Given the description of an element on the screen output the (x, y) to click on. 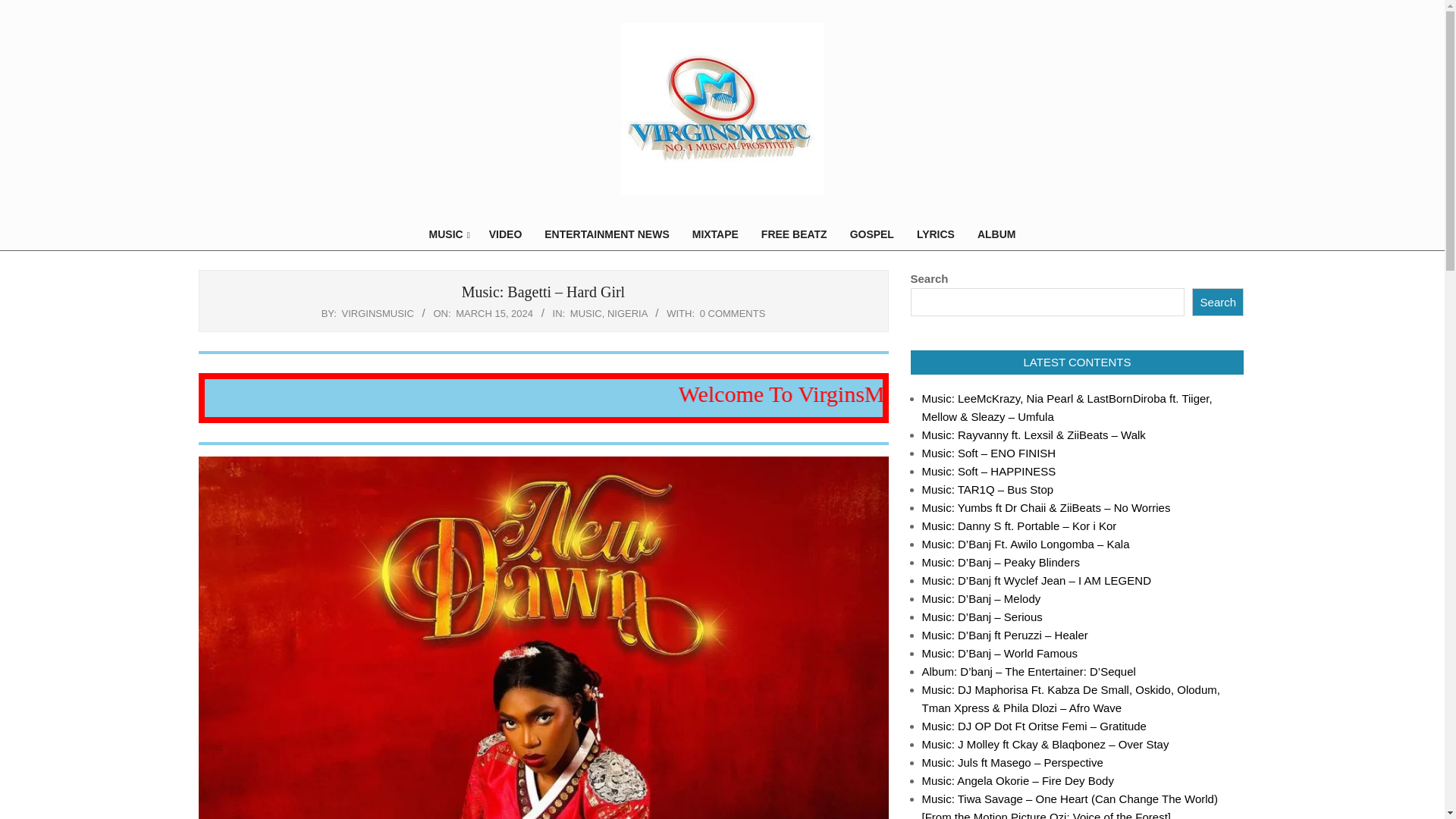
NIGERIA (627, 313)
0 COMMENTS (732, 313)
Posts by VirginsMusic (377, 313)
ENTERTAINMENT NEWS (605, 234)
Search (1217, 302)
MIXTAPE (715, 234)
Friday, March 15, 2024, 11:25 am (493, 313)
VIRGINSMUSIC (377, 313)
LYRICS (935, 234)
MUSIC (586, 313)
